Given the description of an element on the screen output the (x, y) to click on. 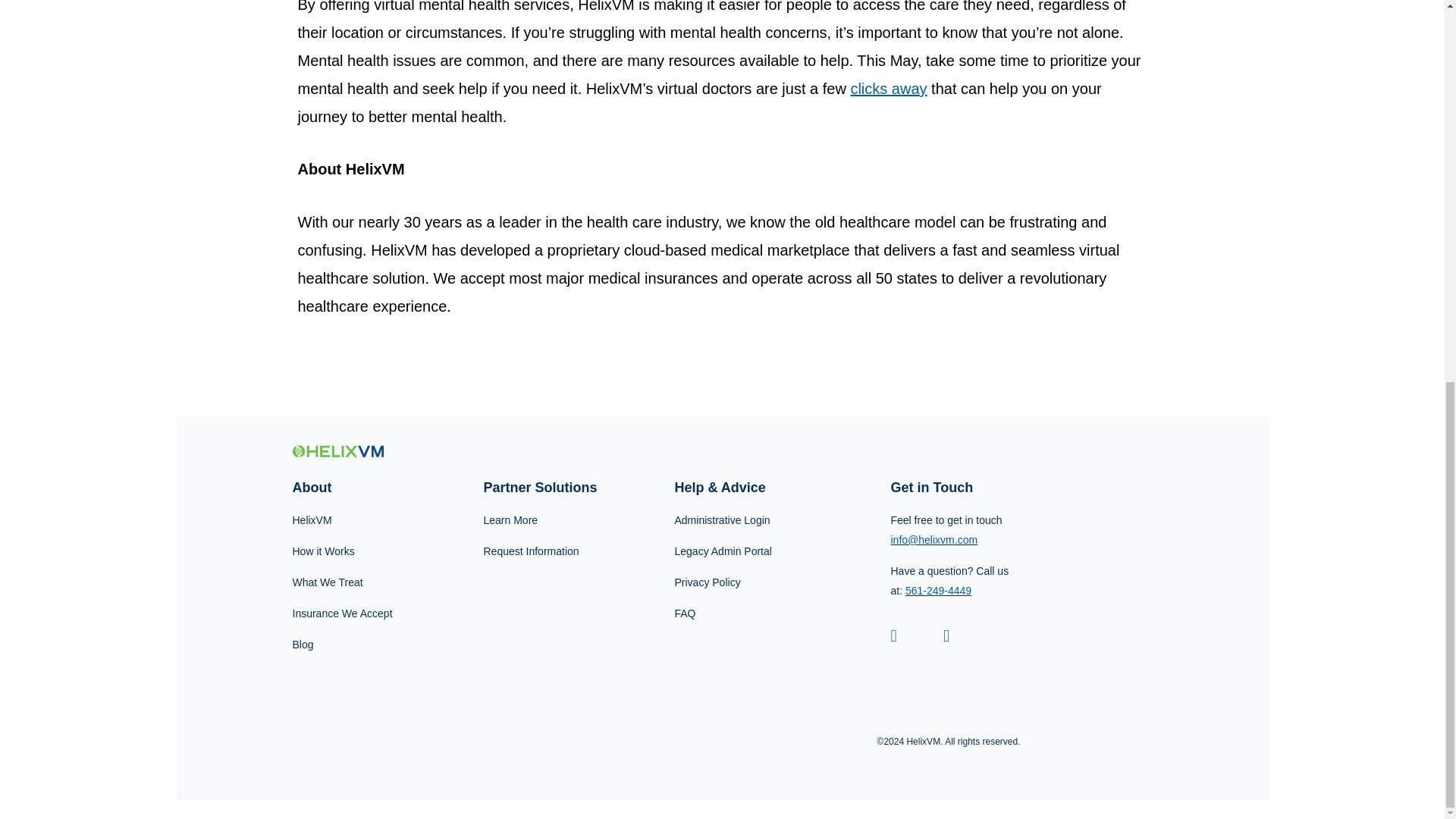
How it Works (349, 551)
HelixVM (349, 520)
clicks away (888, 88)
What We Treat (349, 582)
